Given the description of an element on the screen output the (x, y) to click on. 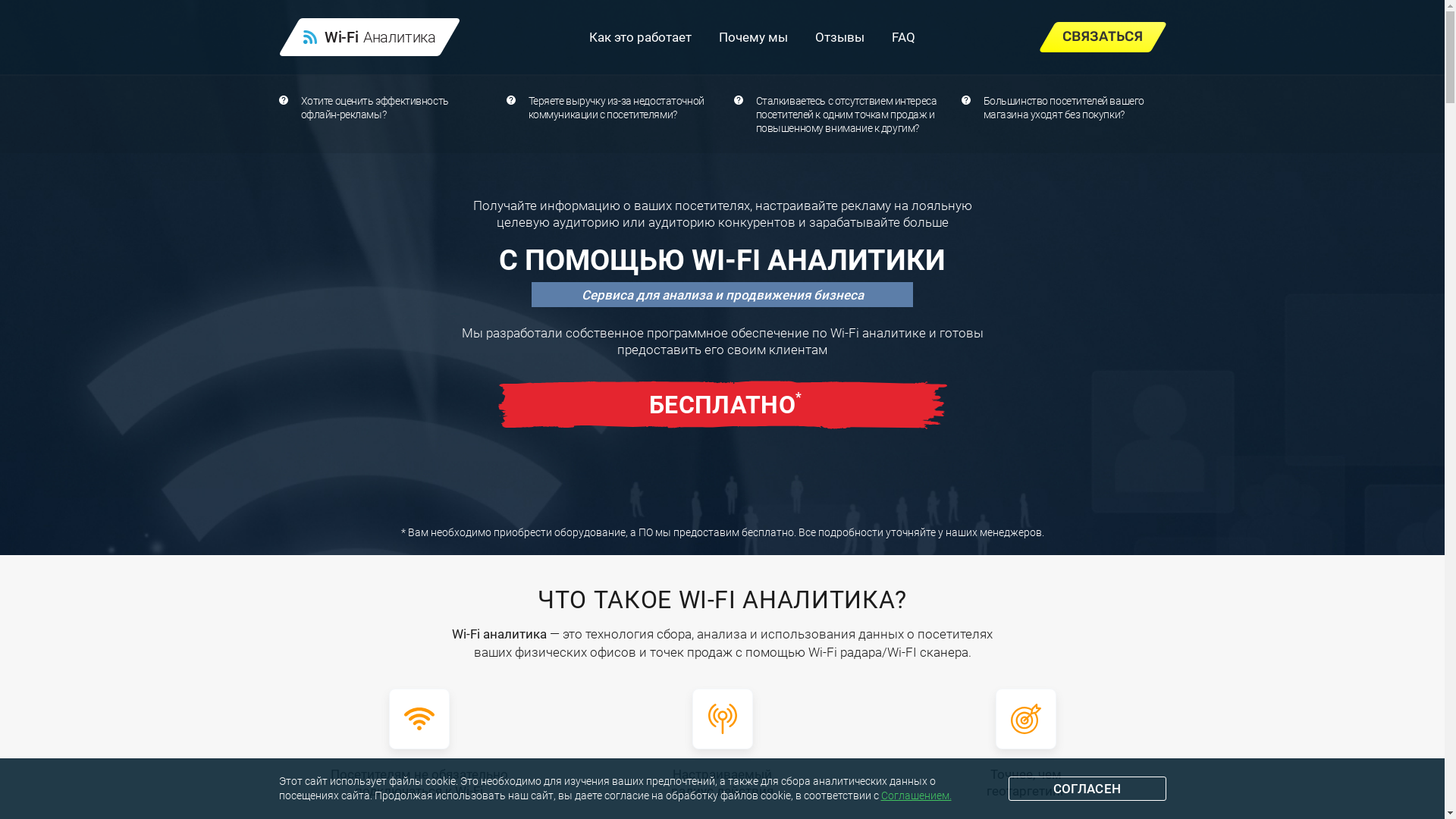
FAQ Element type: text (903, 36)
